Given the description of an element on the screen output the (x, y) to click on. 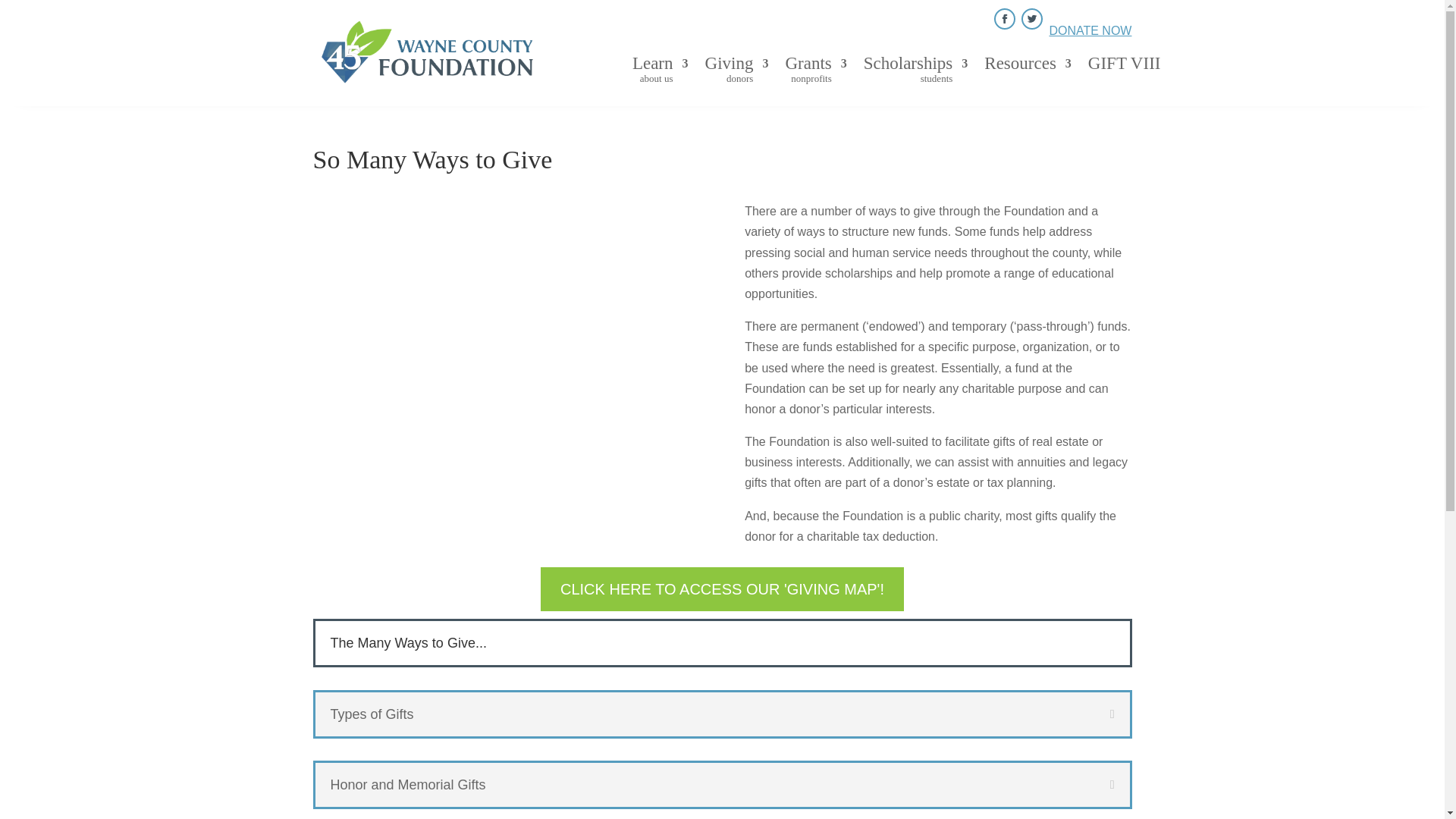
DONATE NOW (915, 74)
GIFT VIII (1089, 30)
Resources (1123, 74)
Types of Funds at the Wayne County Foundation (1027, 74)
